Given the description of an element on the screen output the (x, y) to click on. 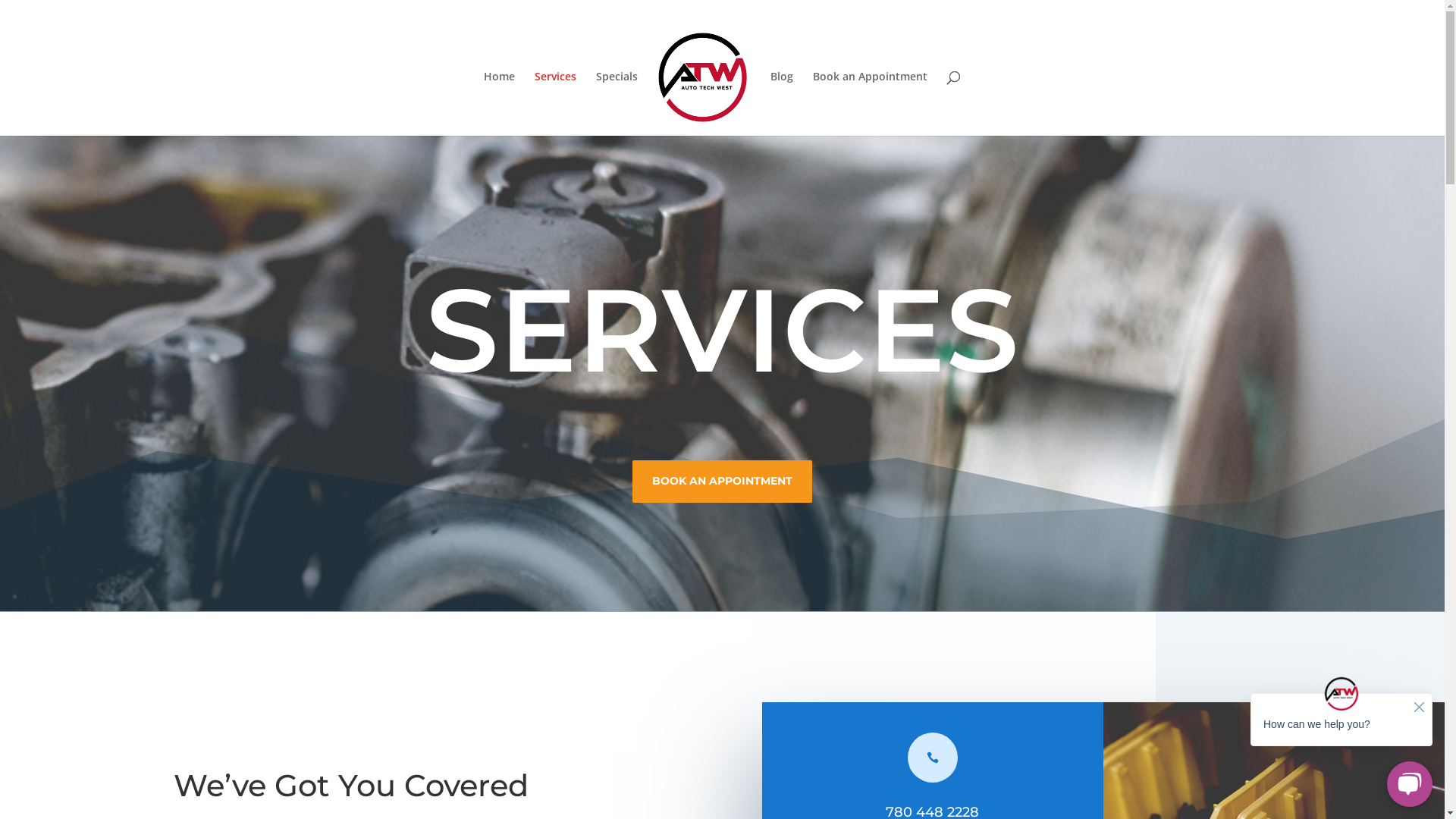
Book an Appointment Element type: text (869, 103)
Services Element type: text (555, 103)
Blog Element type: text (781, 103)
Home Element type: text (498, 103)
Specials Element type: text (616, 103)
BOOK AN APPOINTMENT Element type: text (722, 481)
